Given the description of an element on the screen output the (x, y) to click on. 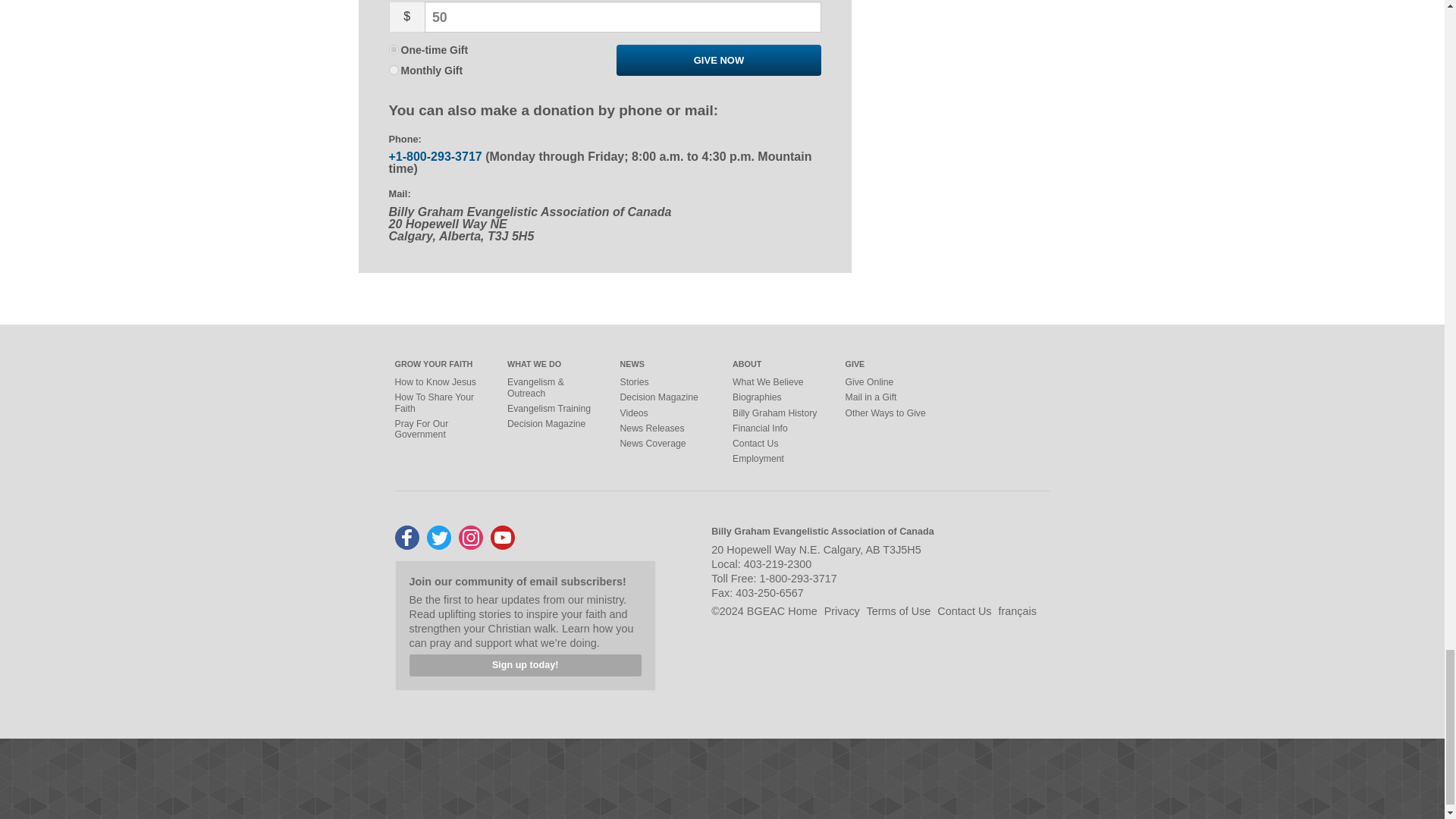
one-time (392, 49)
50 (623, 17)
recurring (392, 70)
